Given the description of an element on the screen output the (x, y) to click on. 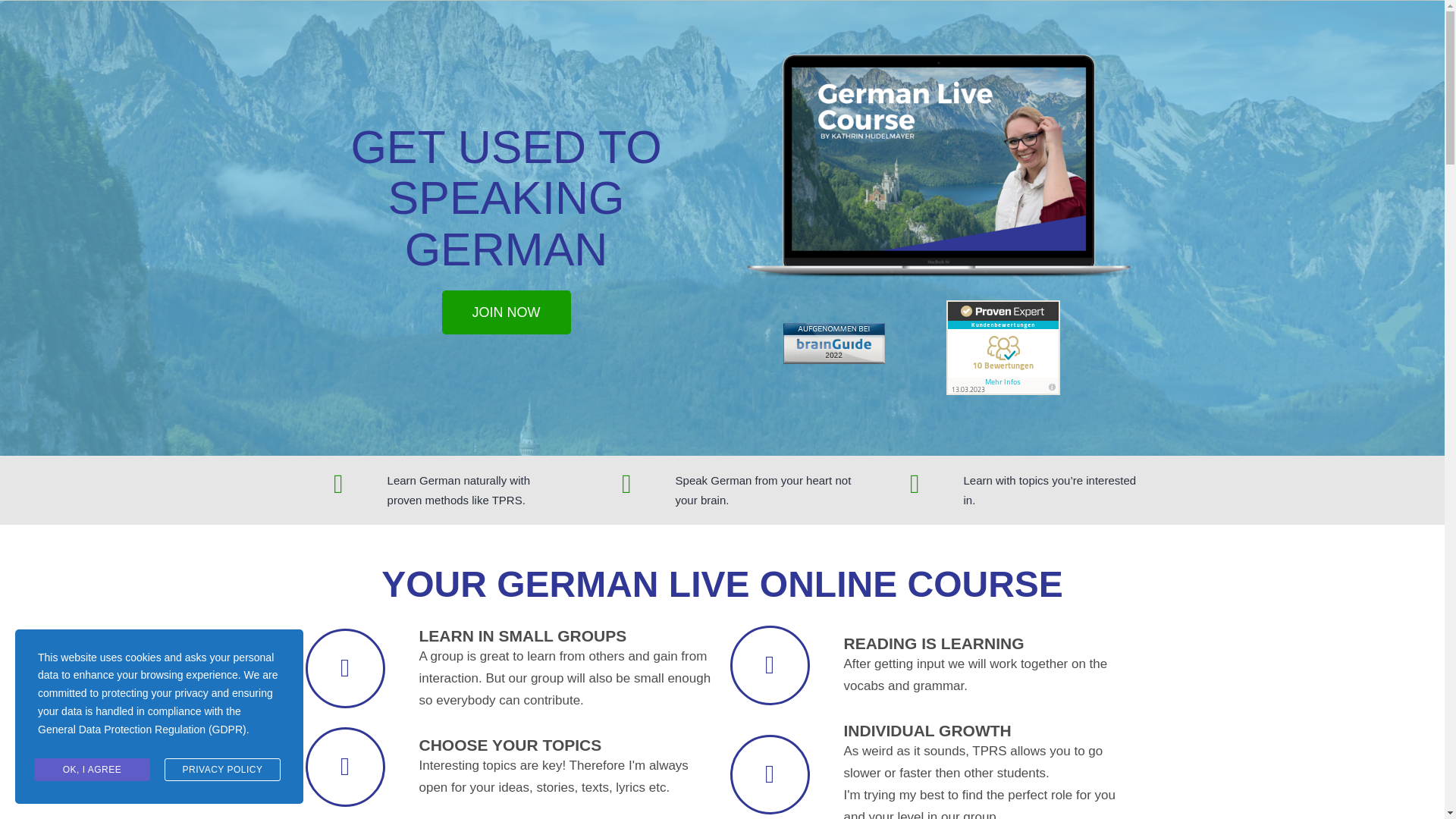
OK, I AGREE (91, 769)
PRIVACY POLICY (222, 769)
JOIN NOW (505, 312)
